Given the description of an element on the screen output the (x, y) to click on. 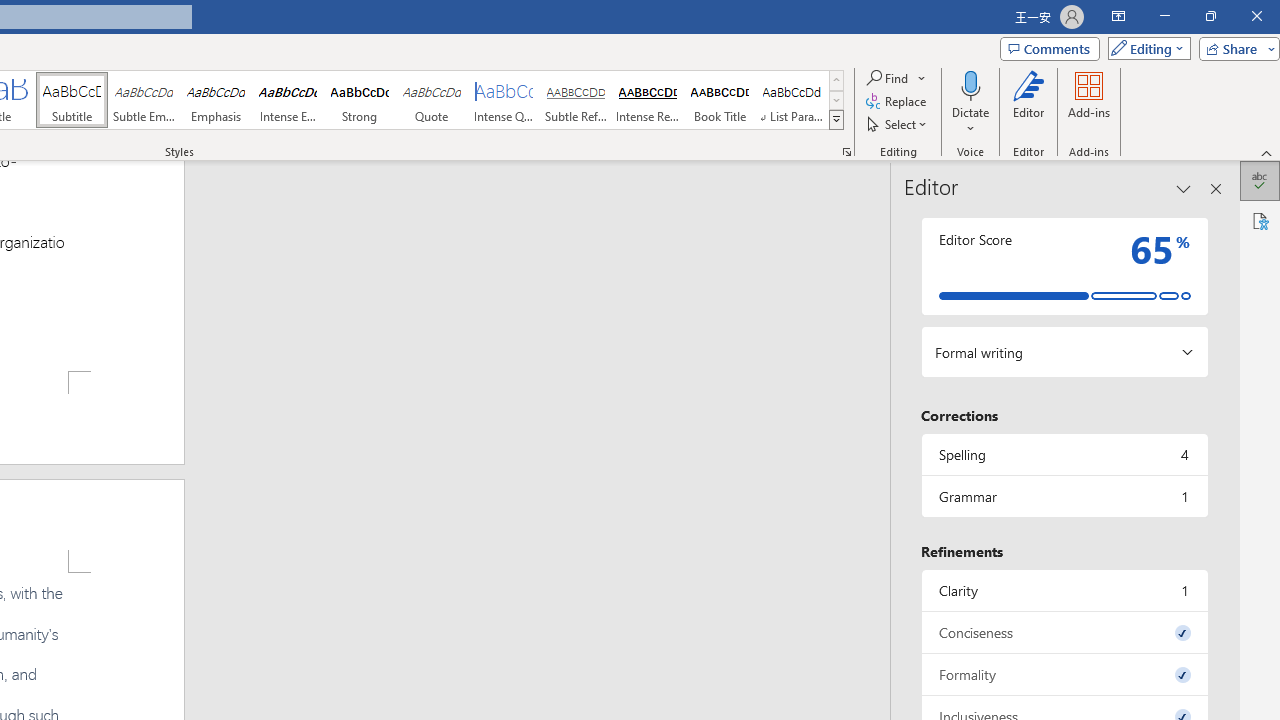
Book Title (719, 100)
Accessibility (1260, 220)
Subtle Reference (575, 100)
Conciseness, 0 issues. Press space or enter to review items. (1064, 632)
Grammar, 1 issue. Press space or enter to review items. (1064, 495)
Row up (836, 79)
